Given the description of an element on the screen output the (x, y) to click on. 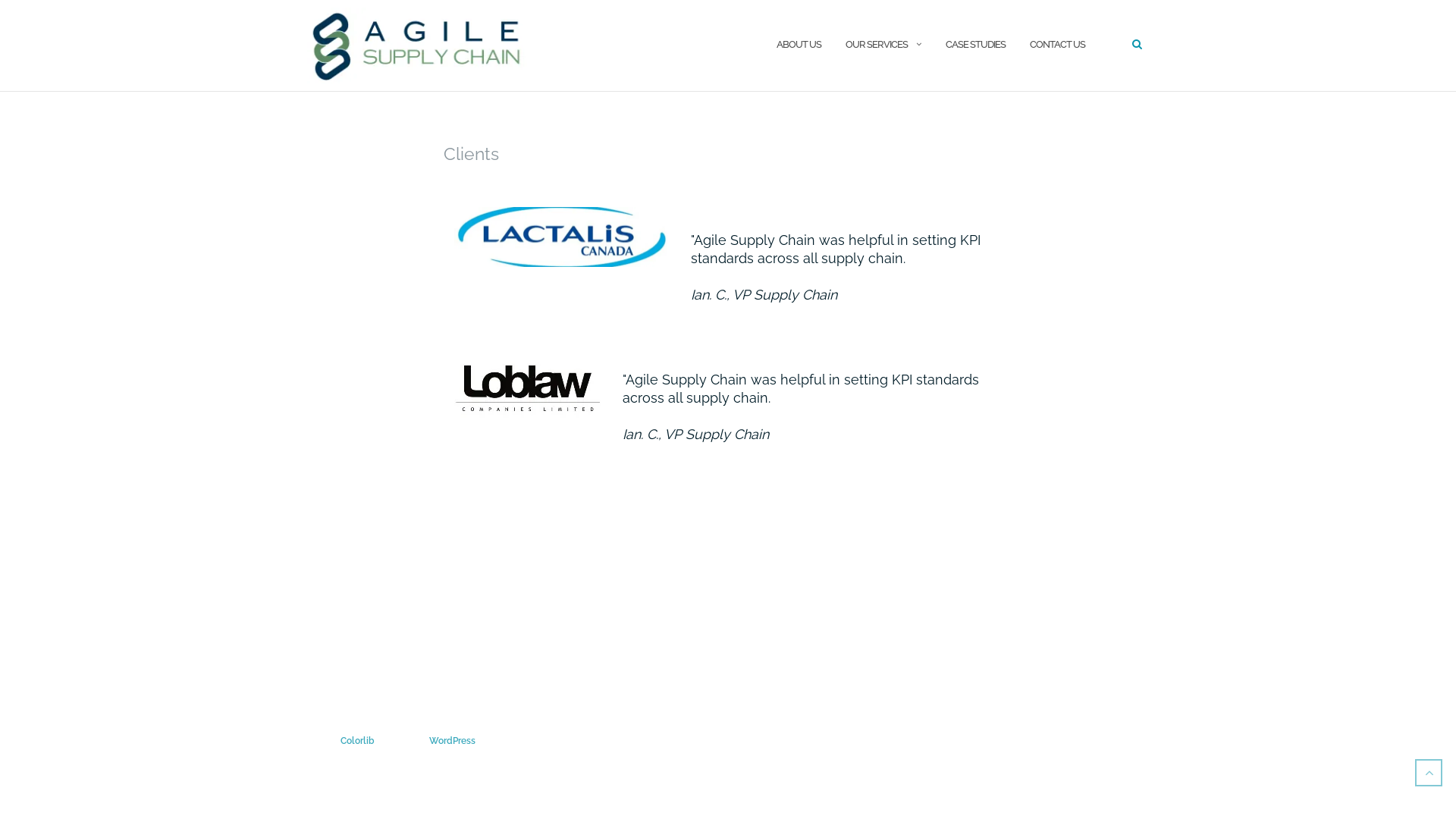
ABOUT US Element type: text (798, 44)
WordPress Element type: text (452, 740)
CASE STUDIES Element type: text (975, 44)
Colorlib Element type: text (357, 740)
CONTACT US Element type: text (1057, 44)
Skip to content Element type: text (0, 0)
OUR SERVICES Element type: text (876, 44)
